Given the description of an element on the screen output the (x, y) to click on. 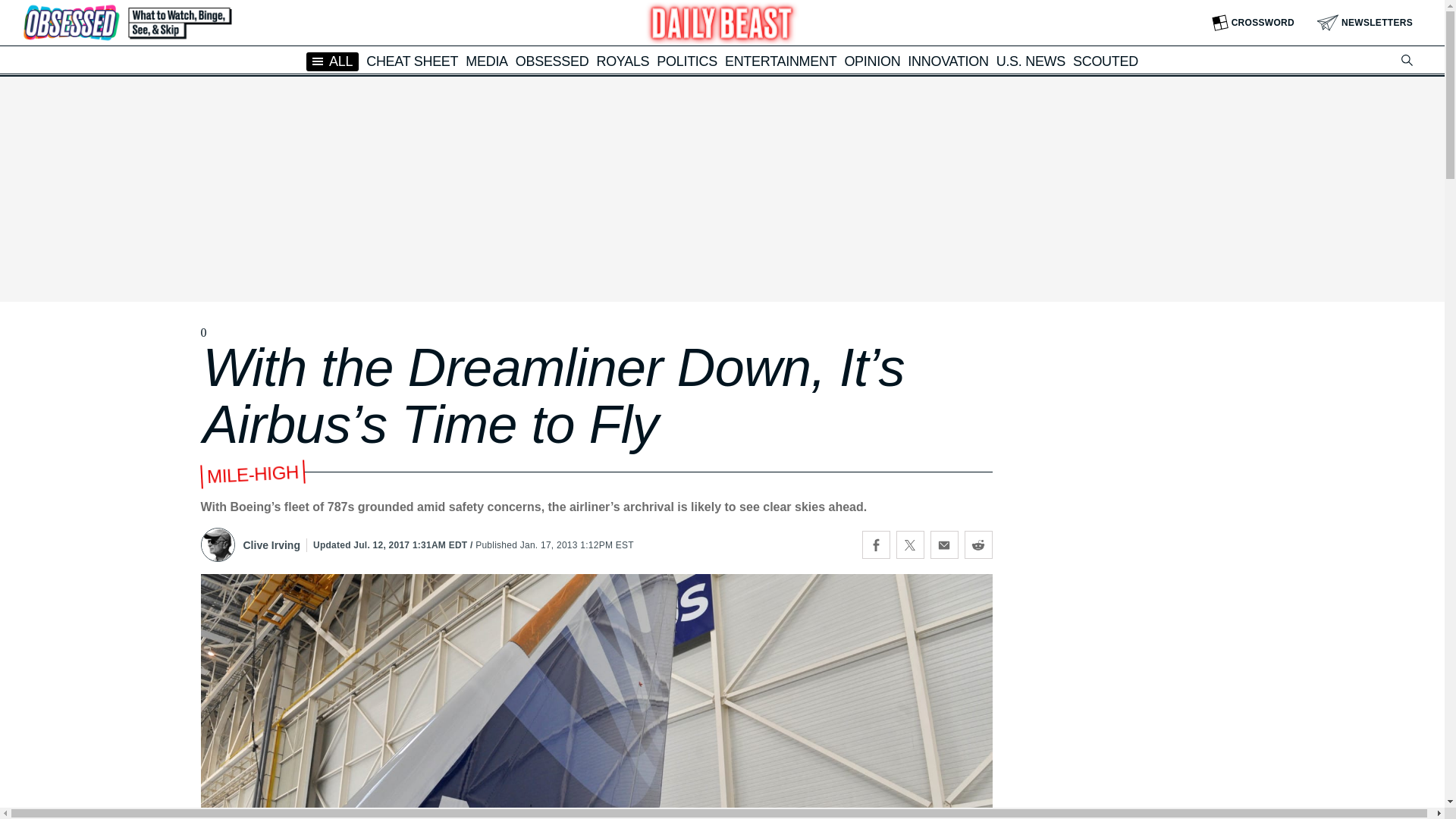
MEDIA (486, 60)
NEWSLETTERS (1364, 22)
CROSSWORD (1252, 22)
ENTERTAINMENT (780, 60)
POLITICS (686, 60)
OPINION (871, 60)
OBSESSED (552, 60)
ROYALS (622, 60)
U.S. NEWS (1030, 60)
INNOVATION (947, 60)
